Given the description of an element on the screen output the (x, y) to click on. 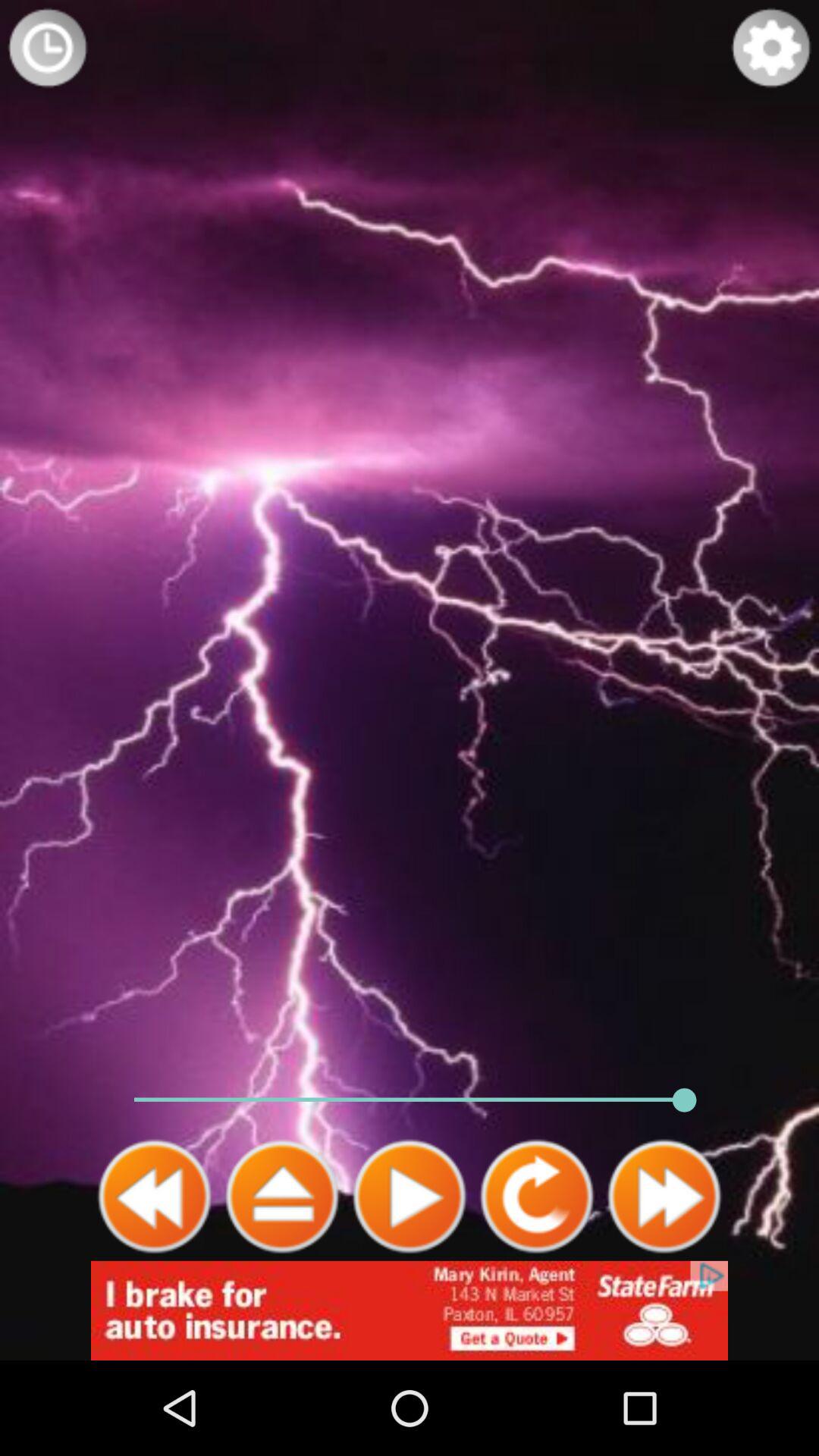
refresh icon (536, 1196)
